Given the description of an element on the screen output the (x, y) to click on. 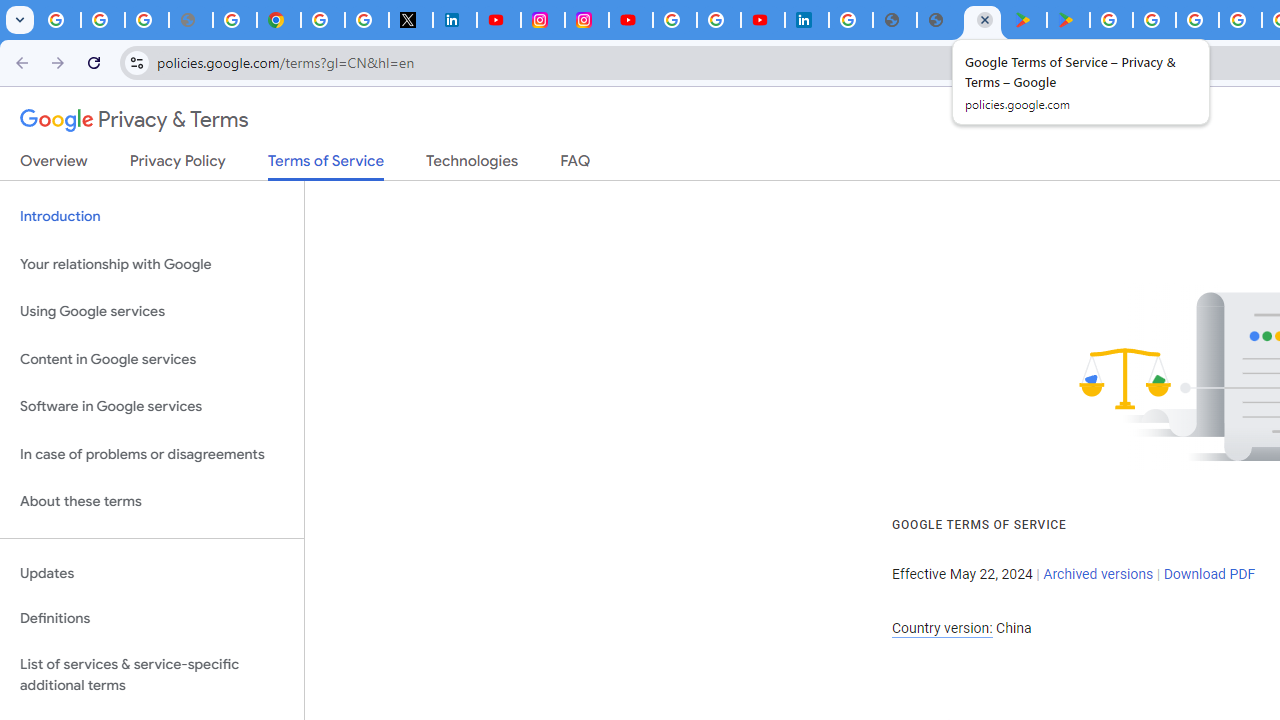
Archived versions (1098, 574)
YouTube Content Monetization Policies - How YouTube Works (498, 20)
Download PDF (1209, 574)
About these terms (152, 502)
Privacy Help Center - Policies Help (234, 20)
Updates (152, 573)
Search tabs (20, 20)
Identity verification via Persona | LinkedIn Help (806, 20)
Overview (54, 165)
LinkedIn Privacy Policy (454, 20)
Software in Google services (152, 407)
